Given the description of an element on the screen output the (x, y) to click on. 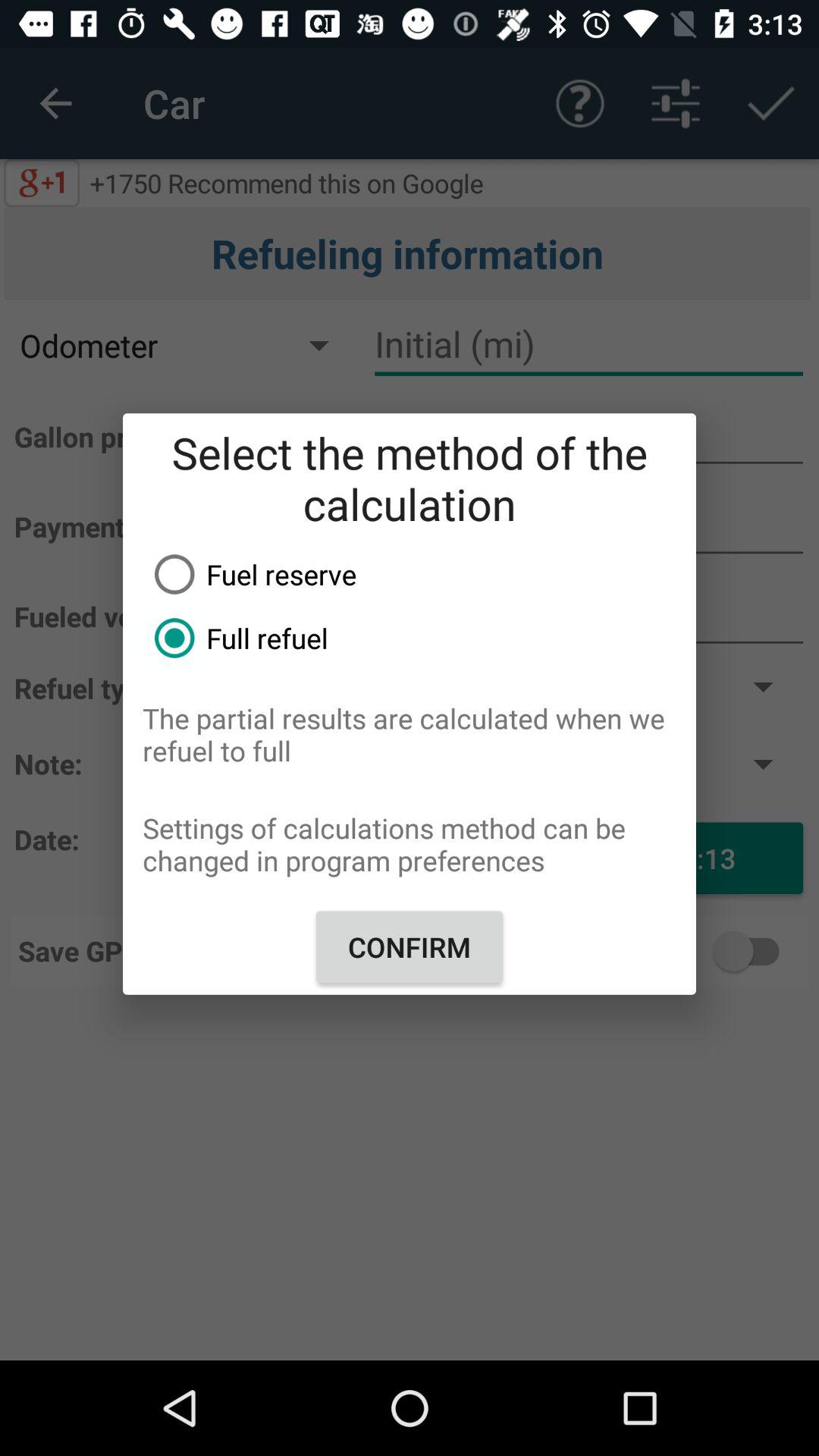
jump to the fuel reserve (419, 574)
